Given the description of an element on the screen output the (x, y) to click on. 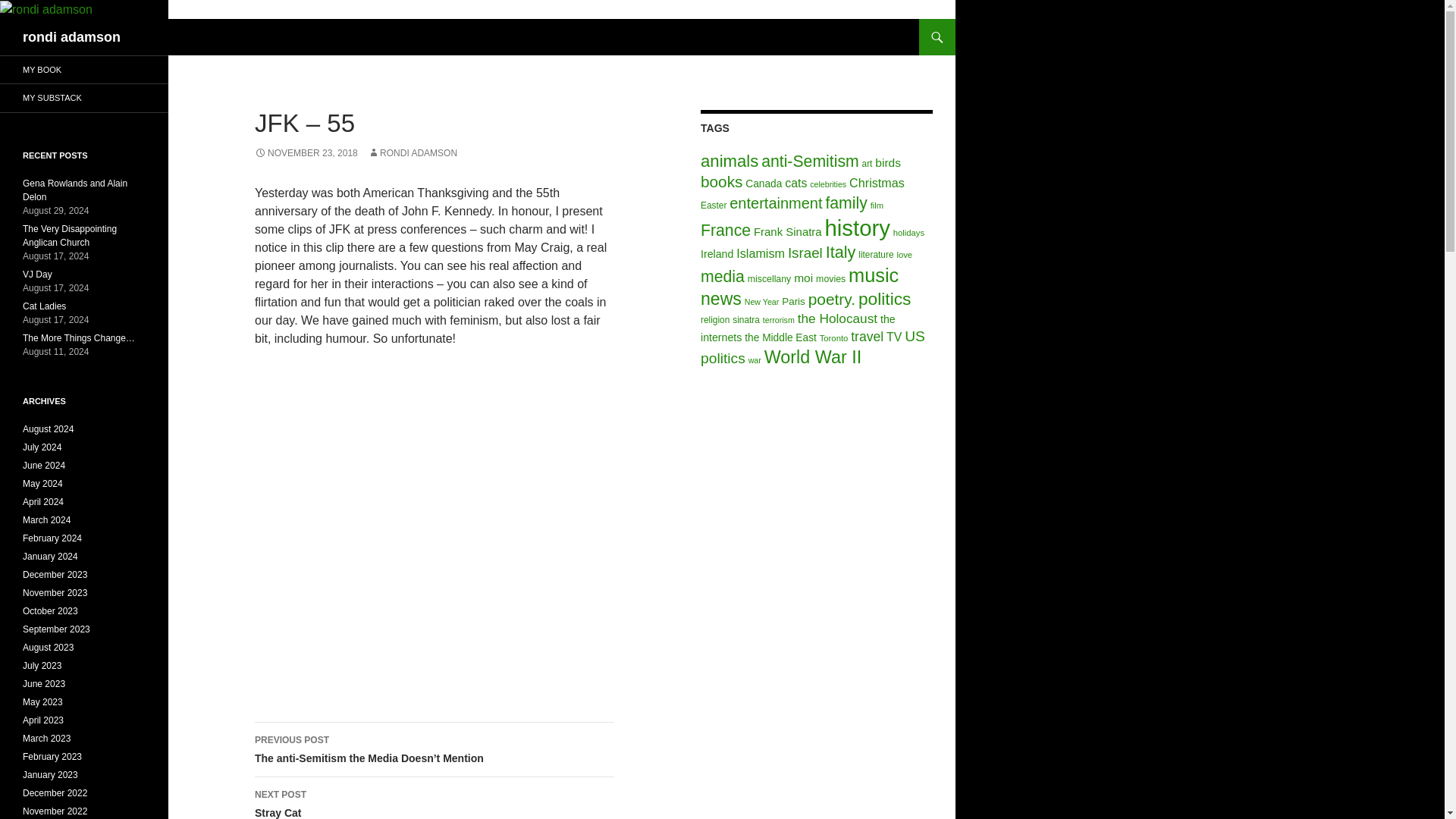
film (876, 204)
literature (876, 254)
Islamism (760, 253)
entertainment (775, 202)
Christmas (876, 182)
anti-Semitism (810, 160)
Israel (804, 252)
art (866, 163)
miscellany (770, 278)
